Given the description of an element on the screen output the (x, y) to click on. 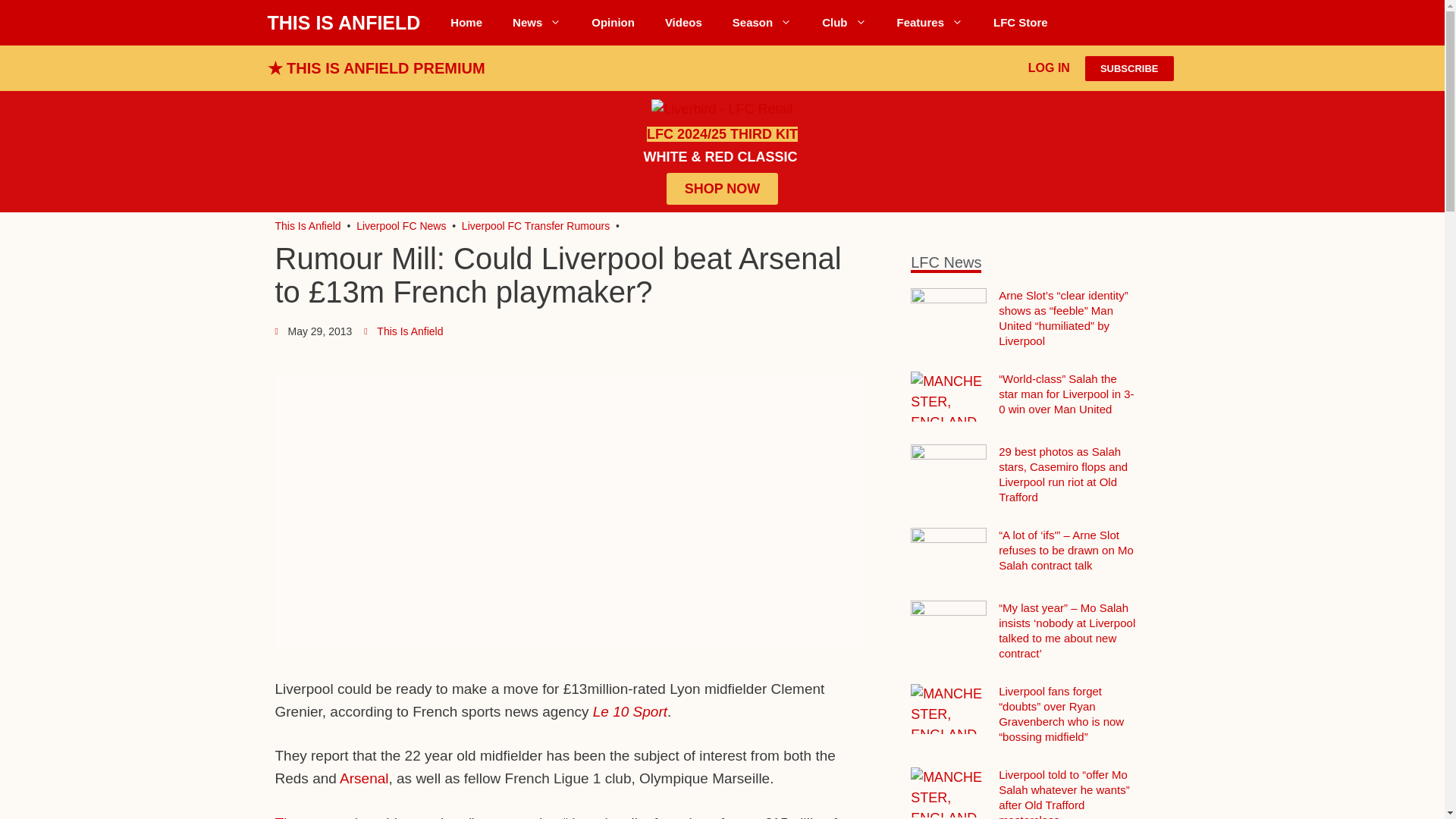
Features (929, 22)
Club (843, 22)
Videos (683, 22)
Season (761, 22)
Liverpool FC News (536, 22)
Home (466, 22)
Opinion (612, 22)
Go to the Liverpool FC News category archives. (400, 225)
Liverpool FC Opinion (612, 22)
News (536, 22)
